Given the description of an element on the screen output the (x, y) to click on. 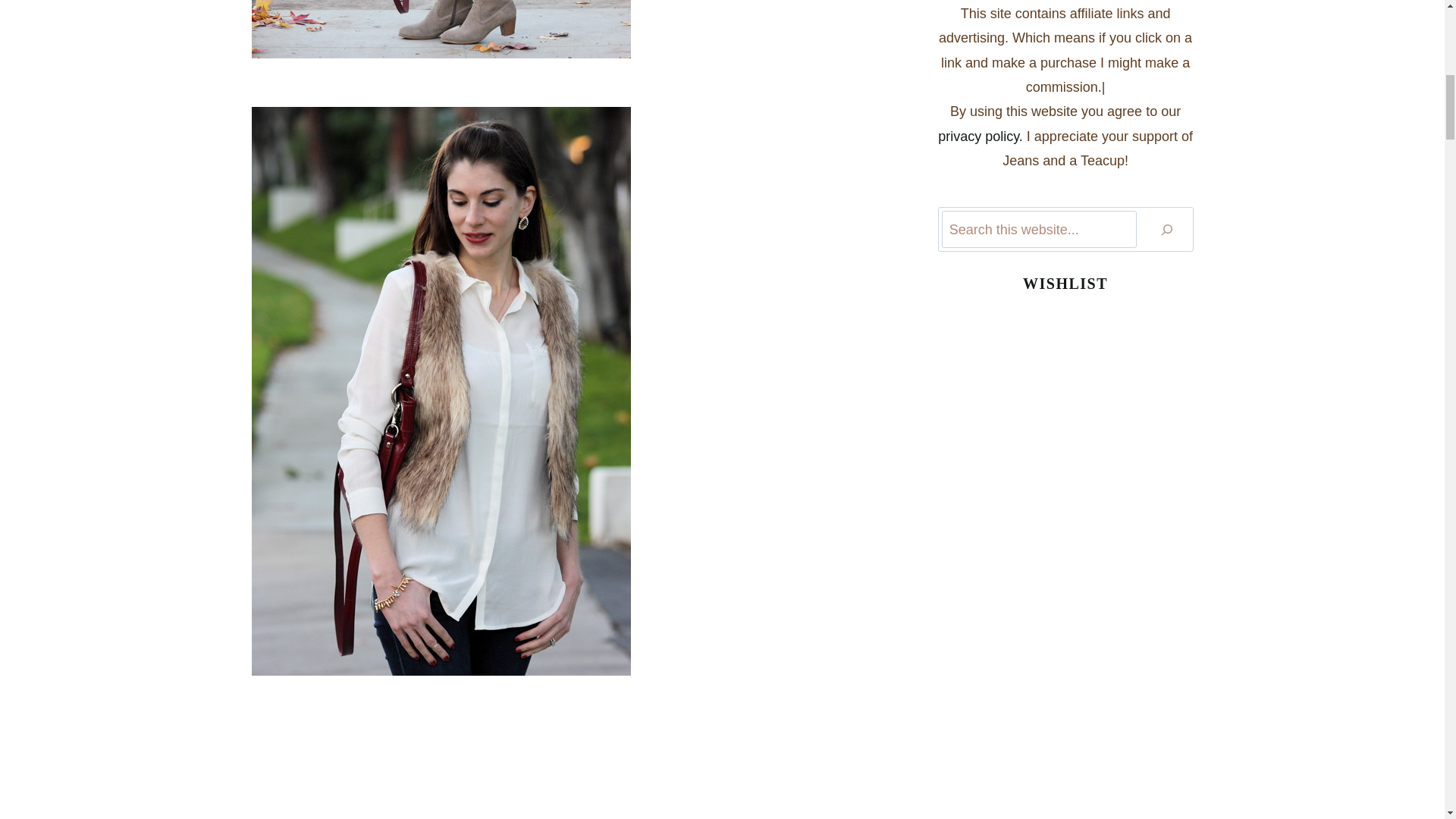
Casual Fur3 by Jeans and a Teacup, on Flickr (570, 771)
Casual Fur2 by Jeans and a Teacup, on Flickr (570, 48)
